Given the description of an element on the screen output the (x, y) to click on. 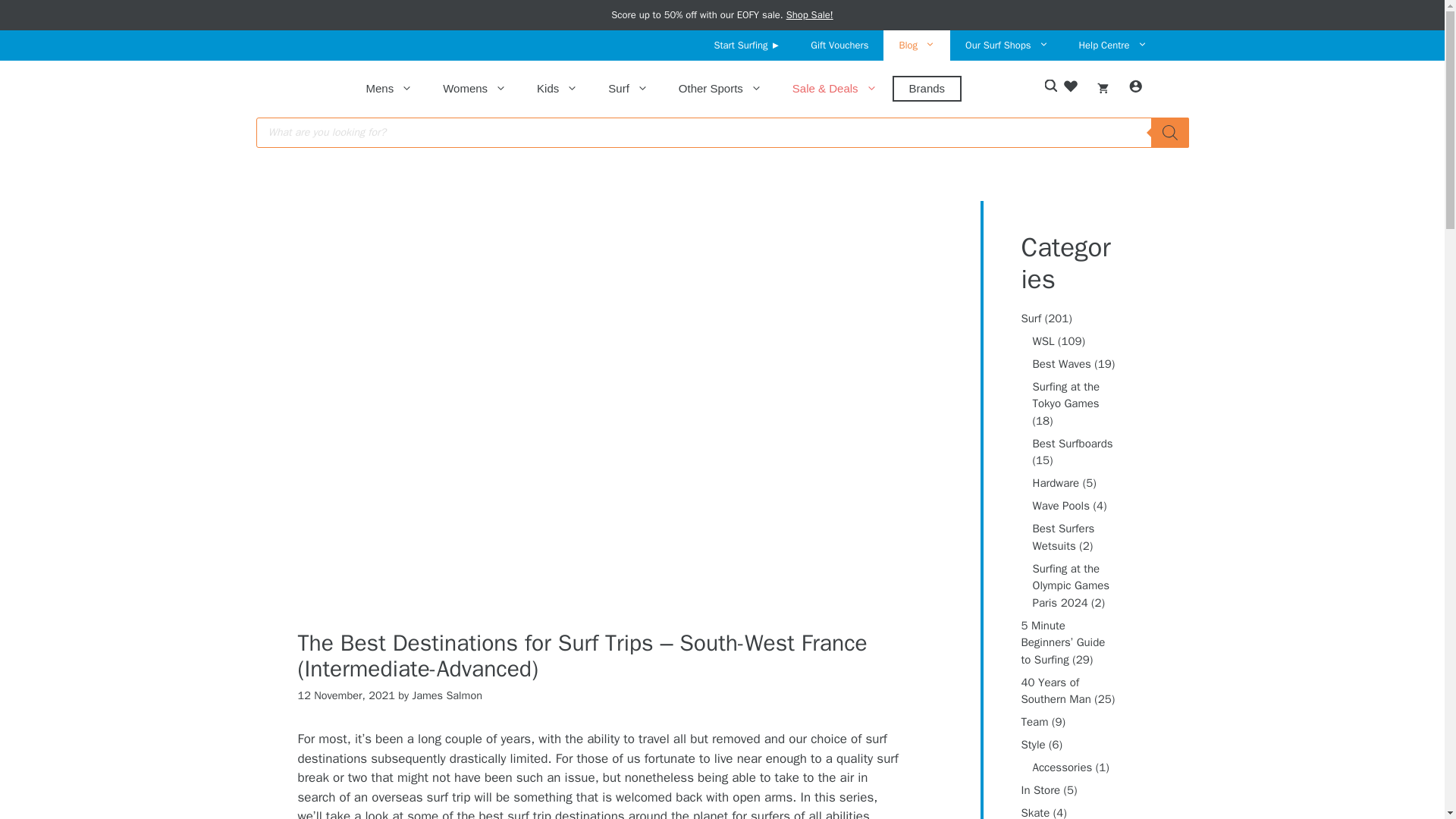
Shop Sale! (809, 14)
View all posts by James Salmon (446, 694)
Gift Vouchers (838, 45)
Southern Man Surf Shop (314, 88)
View your shopping cart (1102, 88)
Blog (916, 45)
